Given the description of an element on the screen output the (x, y) to click on. 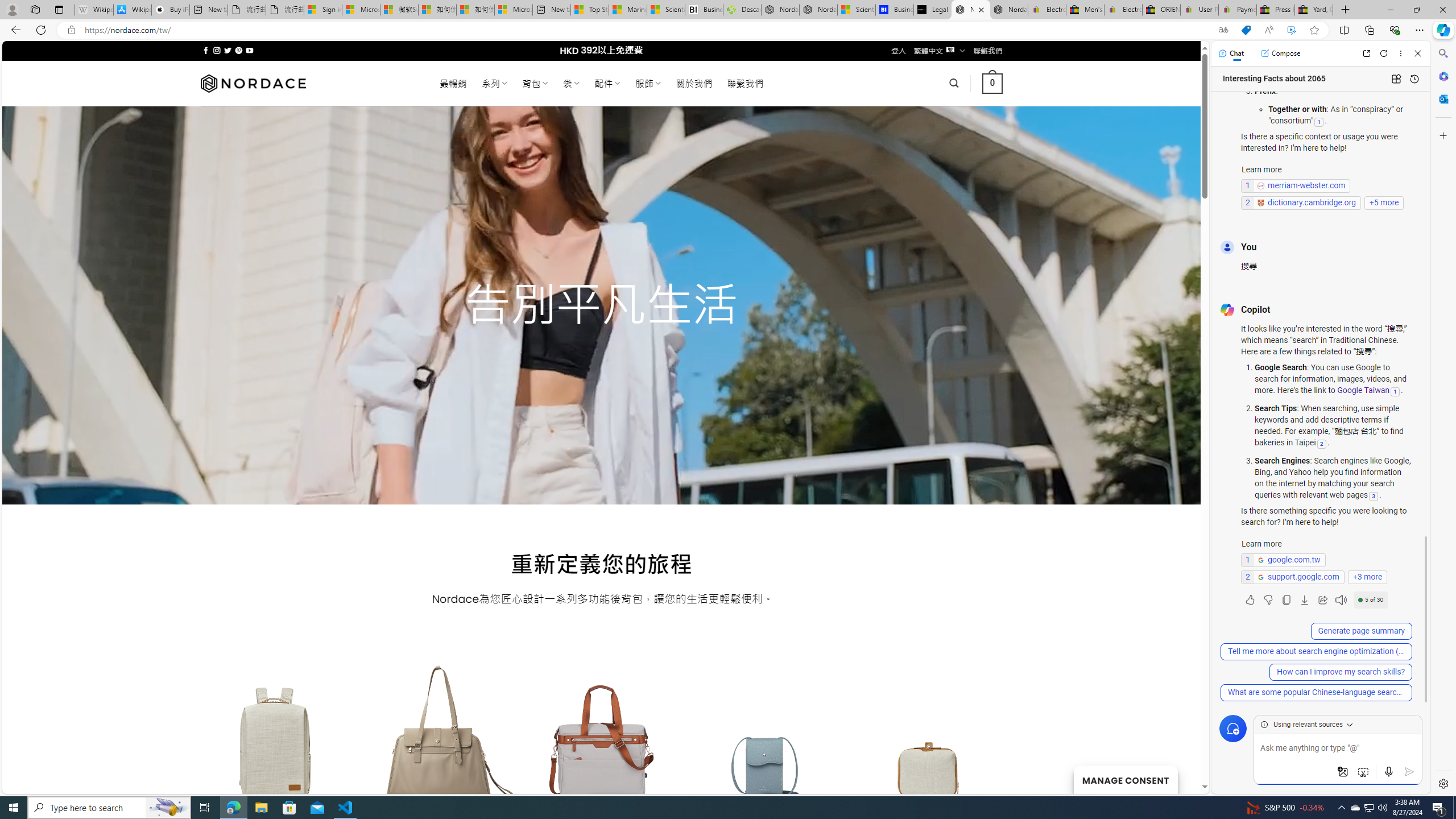
Descarga Driver Updater (741, 9)
Marine life - MSN (628, 9)
Follow on YouTube (249, 50)
Press Room - eBay Inc. (1276, 9)
Yard, Garden & Outdoor Living (1314, 9)
Follow on Instagram (216, 50)
